Given the description of an element on the screen output the (x, y) to click on. 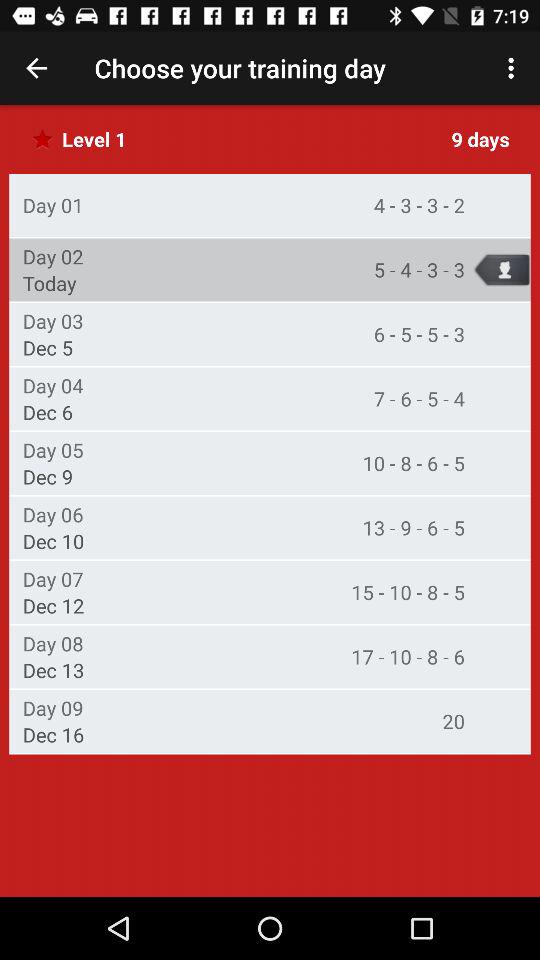
press the icon below day 02 item (49, 283)
